Given the description of an element on the screen output the (x, y) to click on. 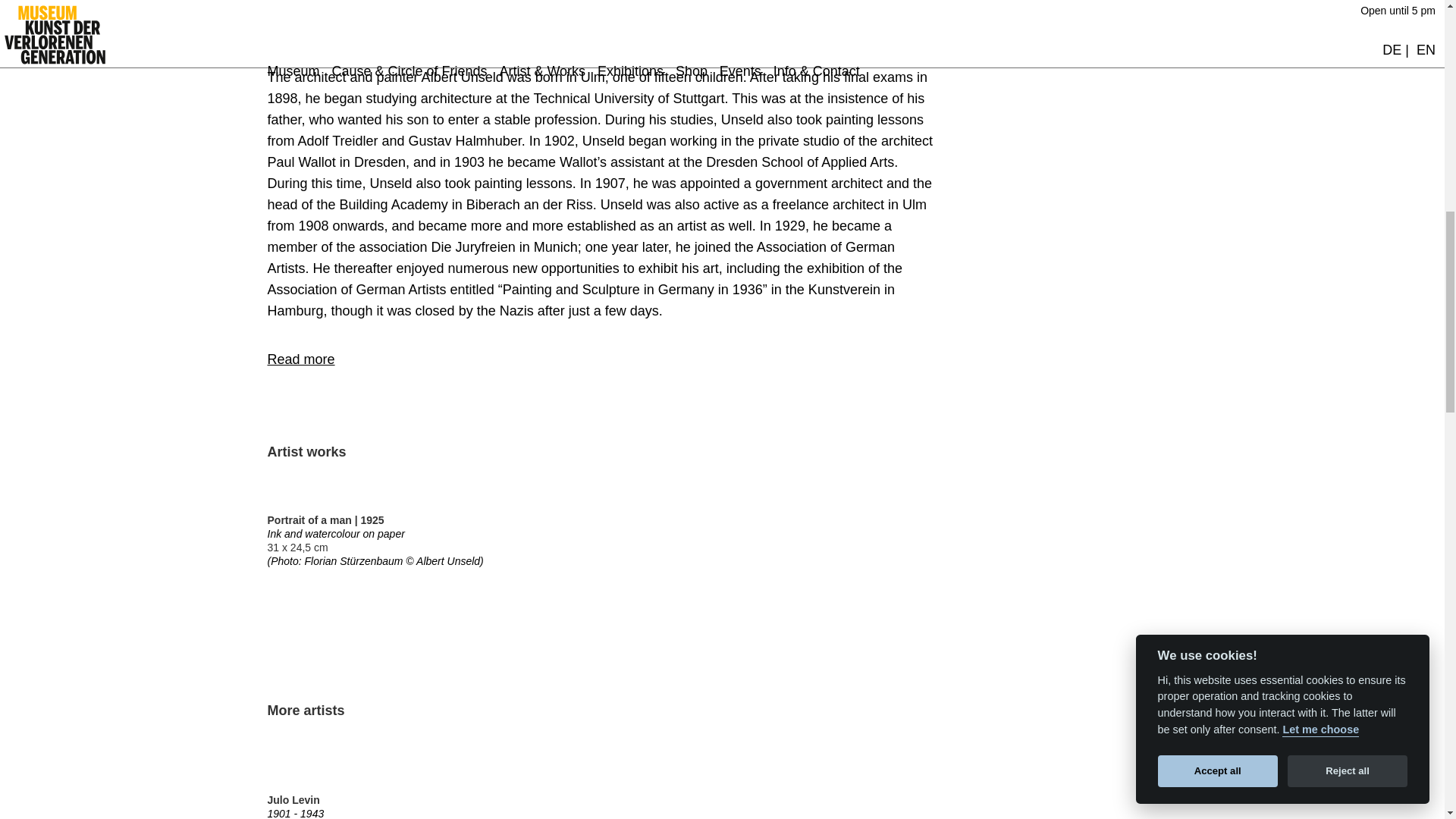
Read more (300, 359)
